Given the description of an element on the screen output the (x, y) to click on. 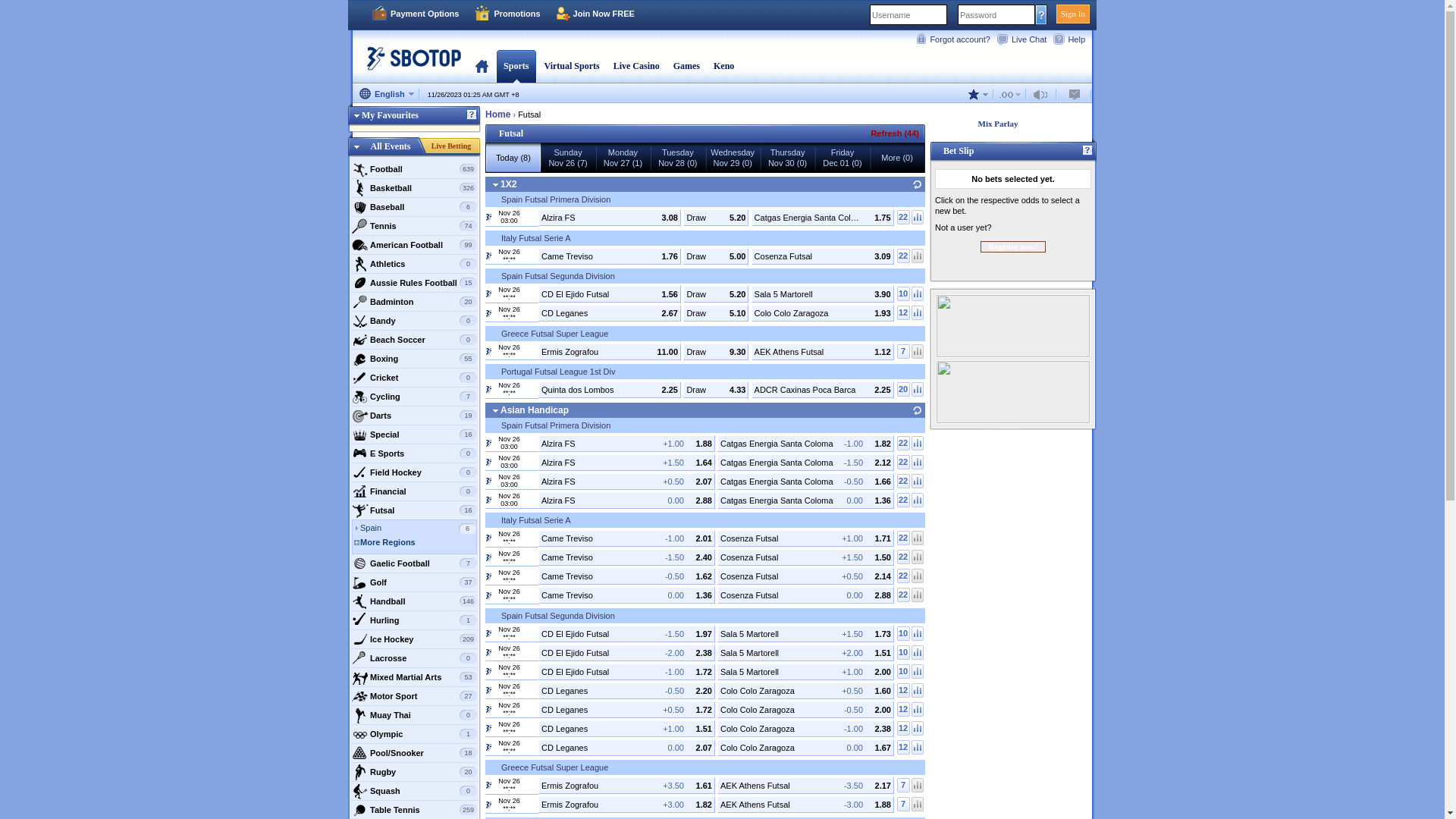
20 Element type: text (903, 389)
More (0) Element type: text (896, 157)
Register now! Element type: text (1013, 246)
Add to my favourites Element type: hover (494, 331)
Add to my favourites Element type: hover (533, 438)
Upcoming live Element type: hover (487, 557)
1.60
+0.50
Colo Colo Zaragoza Element type: text (805, 690)
No statistics available Element type: hover (917, 537)
3.90
Sala 5 Martorell Element type: text (822, 293)
1.67
0.00
Colo Colo Zaragoza Element type: text (805, 746)
Tuesday
Nov 28 (0) Element type: text (677, 157)
2.12
-1.50
Catgas Energia Santa Coloma Element type: text (805, 461)
2.07
0.00
CD Leganes Element type: text (626, 746)
Add to my favourites Element type: hover (533, 554)
Financial
0 Element type: text (413, 491)
Golf
37 Element type: text (413, 582)
22 Element type: text (903, 575)
2.00
-0.50
Colo Colo Zaragoza Element type: text (805, 708)
American Football
99 Element type: text (413, 244)
View statistics Element type: hover (917, 633)
Add to my favourites Element type: hover (533, 534)
Upcoming live Element type: hover (487, 633)
View statistics Element type: hover (917, 293)
Add to my favourites Element type: hover (533, 496)
Unavailable option Element type: hover (1075, 94)
Add to my favourites Element type: hover (533, 477)
1.64
+1.50
Alzira FS Element type: text (626, 461)
Special
16 Element type: text (413, 434)
Add to my favourites Element type: hover (533, 572)
Add to my favourites Element type: hover (494, 197)
Home Element type: text (497, 113)
Help Element type: text (1071, 39)
Add to my favourites Element type: hover (533, 743)
Add to my favourites Element type: hover (533, 347)
Gaelic Football
7 Element type: text (413, 563)
No statistics available Element type: hover (917, 556)
1.36
0.00
Catgas Energia Santa Coloma Element type: text (805, 499)
10 Element type: text (903, 633)
Add to my favourites Element type: hover (533, 309)
My Favourites Element type: text (383, 114)
1.73
+1.50
Sala 5 Martorell Element type: text (805, 632)
22 Element type: text (903, 537)
Live Casino Element type: text (636, 65)
View statistics Element type: hover (917, 727)
Tennis
74 Element type: text (413, 225)
2.00
+1.00
Sala 5 Martorell Element type: text (805, 670)
1.71
+1.00
Cosenza Futsal Element type: text (805, 538)
Upcoming live Element type: hover (487, 537)
1.62
-0.50
Came Treviso Element type: text (626, 575)
Add to my favourites Element type: hover (494, 613)
View statistics Element type: hover (917, 389)
Help Element type: hover (1087, 150)
22 Element type: text (903, 255)
Forgot your password? Element type: hover (1041, 14)
2.14
+0.50
Cosenza Futsal Element type: text (805, 575)
Add to my favourites Element type: hover (494, 518)
Upcoming live Element type: hover (487, 350)
View statistics Element type: hover (917, 747)
Bandy
0 Element type: text (413, 320)
1.82
+3.00
Ermis Zografou Element type: text (626, 804)
Unavailable option Element type: hover (1010, 94)
Sign In Element type: text (1072, 13)
Add to my favourites Element type: hover (494, 369)
2.01
-1.00
Came Treviso Element type: text (626, 538)
5.20
Draw Element type: text (715, 293)
Add to my favourites Element type: hover (533, 781)
Live Casino Element type: text (636, 65)
12 Element type: text (903, 689)
10 Element type: text (903, 651)
Add to my favourites Element type: hover (494, 273)
22 Element type: text (903, 462)
1.56
CD El Ejido Futsal Element type: text (609, 293)
Today (8) Element type: text (513, 157)
Handball
146 Element type: text (413, 601)
Upcoming live Element type: hover (487, 689)
2.88
0.00
Cosenza Futsal Element type: text (805, 594)
1.75
Catgas Energia Santa Coloma Element type: text (822, 217)
No statistics available Element type: hover (917, 575)
Home Element type: text (481, 65)
1.36
0.00
Came Treviso Element type: text (626, 594)
Add to my favourites Element type: hover (533, 705)
1.72
+0.50
CD Leganes Element type: text (626, 708)
Keno Element type: text (723, 65)
Add to my favourites Element type: hover (533, 252)
Upcoming live Element type: hover (487, 255)
Games Element type: text (686, 65)
1.82
-1.00
Catgas Energia Santa Coloma Element type: text (805, 443)
Field Hockey
0 Element type: text (413, 472)
7 Element type: text (903, 804)
Upcoming live Element type: hover (487, 708)
Upcoming live Element type: hover (487, 727)
Spain
6 Element type: text (418, 529)
2.38
-2.00
CD El Ejido Futsal Element type: text (626, 652)
Rugby
20 Element type: text (413, 771)
Motor Sport
27 Element type: text (413, 696)
1.12
AEK Athens Futsal Element type: text (822, 350)
5.00
Draw Element type: text (715, 255)
Add to my favourites Element type: hover (533, 801)
View statistics Element type: hover (917, 671)
View statistics Element type: hover (917, 462)
SBOTOP Sports | Online Sports Live Betting - Join Now! Element type: hover (409, 63)
Upcoming live Element type: hover (487, 499)
Upcoming live Element type: hover (487, 670)
Add to my favourites Element type: hover (494, 235)
Lacrosse
0 Element type: text (413, 658)
Add to my favourites Element type: hover (533, 385)
10 Element type: text (903, 293)
Add to my favourites Element type: hover (533, 458)
Upcoming live Element type: hover (487, 784)
3.08
Alzira FS Element type: text (609, 217)
No statistics available Element type: hover (917, 804)
View statistics Element type: hover (917, 442)
12 Element type: text (903, 312)
Add to my favourites Element type: hover (533, 213)
Add to my favourites Element type: hover (533, 290)
View statistics Element type: hover (917, 312)
View statistics Element type: hover (917, 499)
Live Betting Element type: text (450, 146)
2.17
-3.50
AEK Athens Futsal Element type: text (805, 785)
2.25
ADCR Caxinas Poca Barca Element type: text (822, 389)
Upcoming live Element type: hover (487, 595)
Cycling
7 Element type: text (413, 396)
Hurling
1 Element type: text (413, 620)
All Events Element type: text (390, 146)
1.50
+1.50
Cosenza Futsal Element type: text (805, 557)
Cricket
0 Element type: text (413, 377)
Ice Hockey
209 Element type: text (413, 639)
7 Element type: text (903, 351)
Add to my favourites Element type: hover (533, 630)
22 Element type: text (903, 442)
Upcoming live Element type: hover (487, 575)
22 Element type: text (903, 556)
Add to my favourites Element type: hover (494, 422)
1.51
+1.00
CD Leganes Element type: text (626, 728)
Add to my favourites Element type: hover (494, 765)
Add to my favourites Element type: hover (533, 686)
12 Element type: text (903, 747)
Sign In
Payment Options
Promotions
Join Now FREE Element type: text (722, 15)
22 Element type: text (903, 480)
Squash
0 Element type: text (413, 790)
Upcoming live Element type: hover (487, 651)
11.00
Ermis Zografou Element type: text (609, 350)
22 Element type: text (903, 594)
No statistics available Element type: hover (917, 255)
Sunday
Nov 26 (7) Element type: text (567, 157)
Football
639 Element type: text (413, 169)
Promotions Element type: text (506, 13)
Add to my favourites Element type: hover (533, 667)
Boxing
55 Element type: text (413, 358)
Olympic
1 Element type: text (413, 733)
Sports Element type: text (515, 65)
10 Element type: text (903, 671)
Beach Soccer
0 Element type: text (413, 339)
5.20
Draw Element type: text (715, 217)
2.20
-0.50
CD Leganes Element type: text (626, 690)
Join Now FREE Element type: text (594, 13)
View statistics Element type: hover (917, 689)
22 Element type: text (903, 499)
Athletics
0 Element type: text (413, 263)
Aussie Rules Football
15 Element type: text (413, 282)
12 Element type: text (903, 709)
Add to my favourites Element type: hover (533, 592)
4.33
Draw Element type: text (715, 389)
1.88
-3.00
AEK Athens Futsal Element type: text (805, 804)
Payment Options Element type: text (414, 13)
Upcoming live Element type: hover (487, 746)
+ Element type: text (512, 94)
1.88
+1.00
Alzira FS Element type: text (626, 443)
Virtual Sports Element type: text (571, 65)
7 Element type: text (903, 785)
1.72
-1.00
CD El Ejido Futsal Element type: text (626, 670)
No statistics available Element type: hover (917, 594)
View statistics Element type: hover (917, 217)
2.40
-1.50
Came Treviso Element type: text (626, 557)
2.88
0.00
Alzira FS Element type: text (626, 499)
1.66
-0.50
Catgas Energia Santa Coloma Element type: text (805, 481)
Upcoming live Element type: hover (487, 312)
Upcoming live Element type: hover (487, 293)
1.61
+3.50
Ermis Zografou Element type: text (626, 785)
22 Element type: text (903, 217)
2.25
Quinta dos Lombos Element type: text (609, 389)
English Element type: text (386, 94)
Thursday
Nov 30 (0) Element type: text (786, 157)
1.76
Came Treviso Element type: text (609, 255)
Mix Parlay
258 Element type: text (1012, 123)
My Favourites Element type: text (414, 117)
2.38
-1.00
Colo Colo Zaragoza Element type: text (805, 728)
1.51
+2.00
Sala 5 Martorell Element type: text (805, 652)
Upcoming live Element type: hover (487, 441)
View statistics Element type: hover (917, 651)
5.10
Draw Element type: text (715, 312)
2.67
CD Leganes Element type: text (609, 312)
Add to my favourites Element type: hover (533, 648)
Help Element type: hover (471, 114)
Upcoming live Element type: hover (487, 216)
E Sports
0 Element type: text (413, 453)
Darts
19 Element type: text (413, 415)
Unavailable option Element type: hover (1042, 94)
Monday
Nov 27 (1) Element type: text (622, 157)
Live Chat Element type: text (1024, 39)
12 Element type: text (903, 727)
View statistics Element type: hover (917, 480)
1.93
Colo Colo Zaragoza Element type: text (822, 312)
View statistics Element type: hover (917, 709)
Friday
Dec 01 (0) Element type: text (842, 157)
Futsal
16 Element type: text (413, 510)
Mixed Martial Arts
53 Element type: text (413, 677)
No statistics available Element type: hover (917, 785)
No statistics available Element type: hover (917, 351)
Badminton
20 Element type: text (413, 301)
Baseball
6 Element type: text (413, 206)
Upcoming live Element type: hover (487, 461)
Add to my favourites Element type: hover (533, 724)
Upcoming live Element type: hover (487, 388)
9.30
Draw Element type: text (715, 350)
Pool/Snooker
18 Element type: text (413, 752)
2.07
+0.50
Alzira FS Element type: text (626, 481)
1.97
-1.50
CD El Ejido Futsal Element type: text (626, 632)
More Regions Element type: text (418, 543)
Upcoming live Element type: hover (487, 480)
3.09
Cosenza Futsal Element type: text (822, 255)
Upcoming live Element type: hover (487, 804)
Wednesday
Nov 29 (0) Element type: text (732, 157)
Basketball
326 Element type: text (413, 187)
Mix Parlay
258 Element type: text (1008, 123)
Muay Thai
0 Element type: text (413, 715)
